Given the description of an element on the screen output the (x, y) to click on. 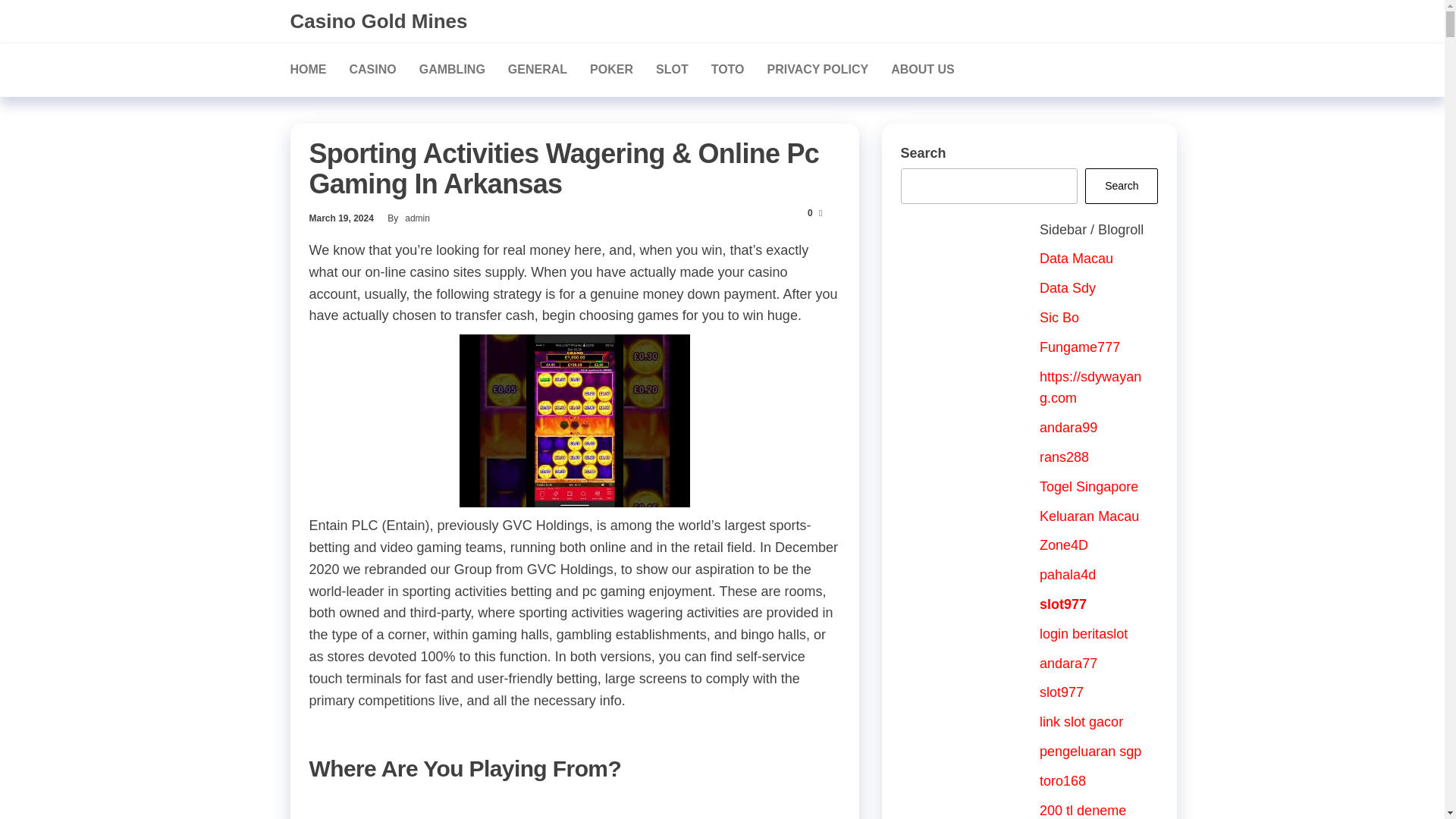
HOME (308, 69)
PRIVACY POLICY (817, 69)
Data Macau (1076, 258)
andara99 (1068, 427)
Sic Bo (1058, 317)
TOTO (727, 69)
Keluaran Macau (1088, 516)
Home (308, 69)
POKER (611, 69)
Togel Singapore (1088, 486)
SLOT (672, 69)
Search (1120, 185)
ABOUT US (922, 69)
General (537, 69)
admin (416, 217)
